Given the description of an element on the screen output the (x, y) to click on. 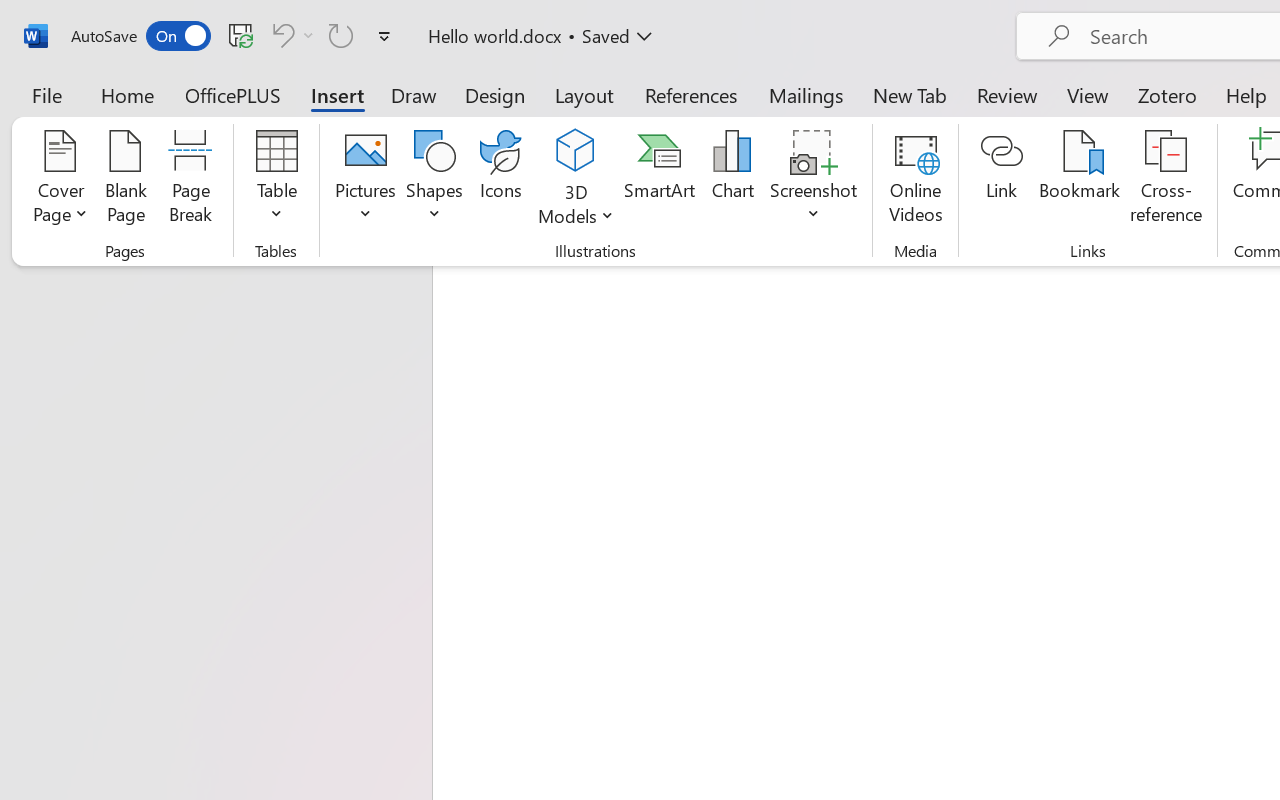
View (1087, 94)
Can't Repeat (341, 35)
Mailings (806, 94)
Layout (584, 94)
References (690, 94)
New Tab (909, 94)
Design (495, 94)
Customize Quick Access Toolbar (384, 35)
Draw (413, 94)
Insert (337, 94)
More Options (308, 35)
Quick Access Toolbar (233, 36)
Save (241, 35)
